Given the description of an element on the screen output the (x, y) to click on. 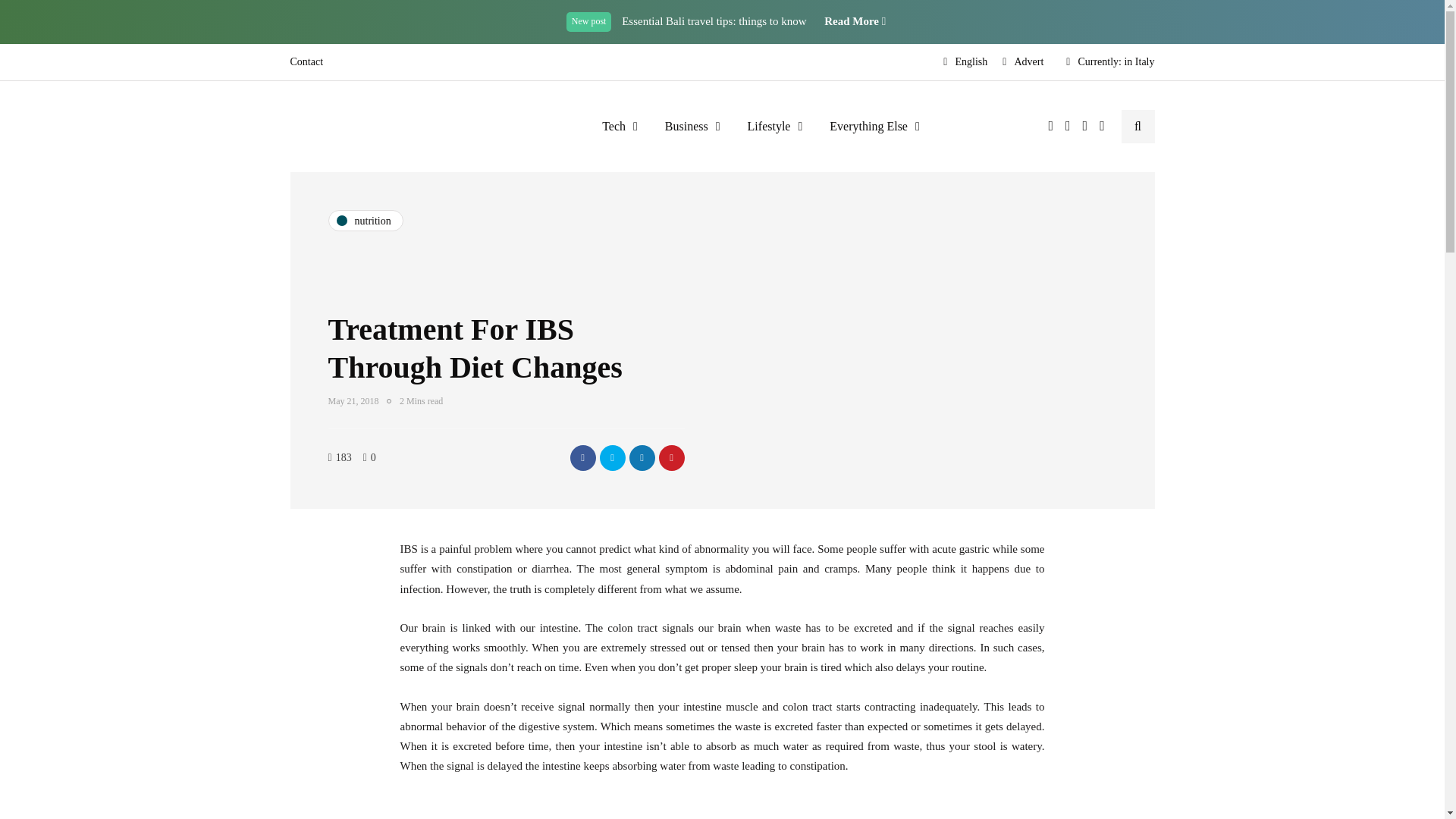
Pin this (671, 457)
Contact (309, 62)
Share with Facebook (582, 457)
Read More (854, 21)
Share with LinkedIn (641, 457)
English (965, 62)
Business (691, 126)
Advert (1022, 62)
Tech (619, 126)
Everything Else (874, 126)
nutrition (365, 219)
Tweet this (611, 457)
Lifestyle (774, 126)
